Given the description of an element on the screen output the (x, y) to click on. 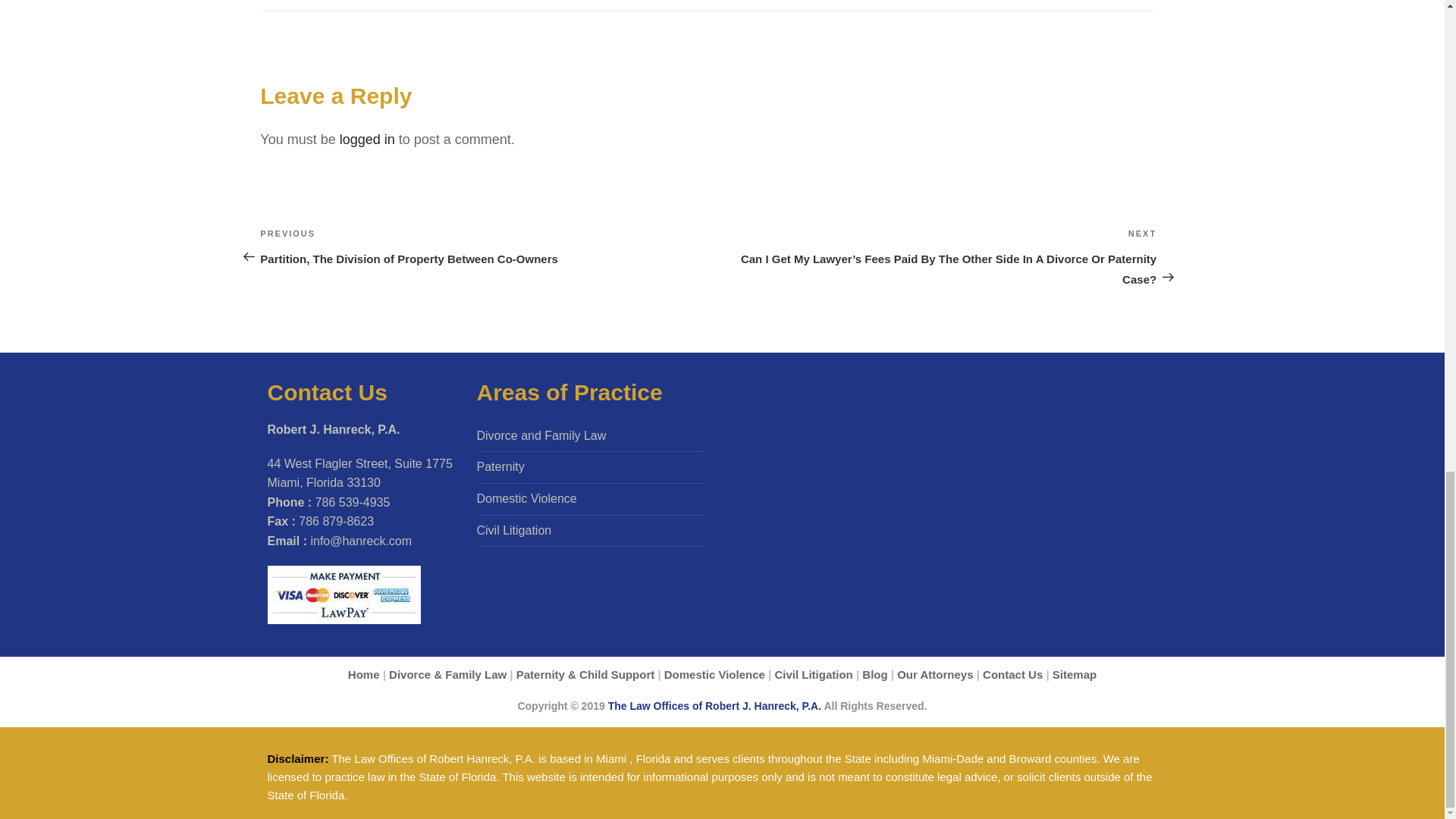
Paternity (500, 466)
logged in (366, 139)
Home (363, 674)
Civil Litigation (812, 674)
Domestic Violence (714, 674)
Civil Litigation (513, 530)
Divorce and Family Law (540, 435)
Blog (873, 674)
Domestic Violence (526, 498)
